Given the description of an element on the screen output the (x, y) to click on. 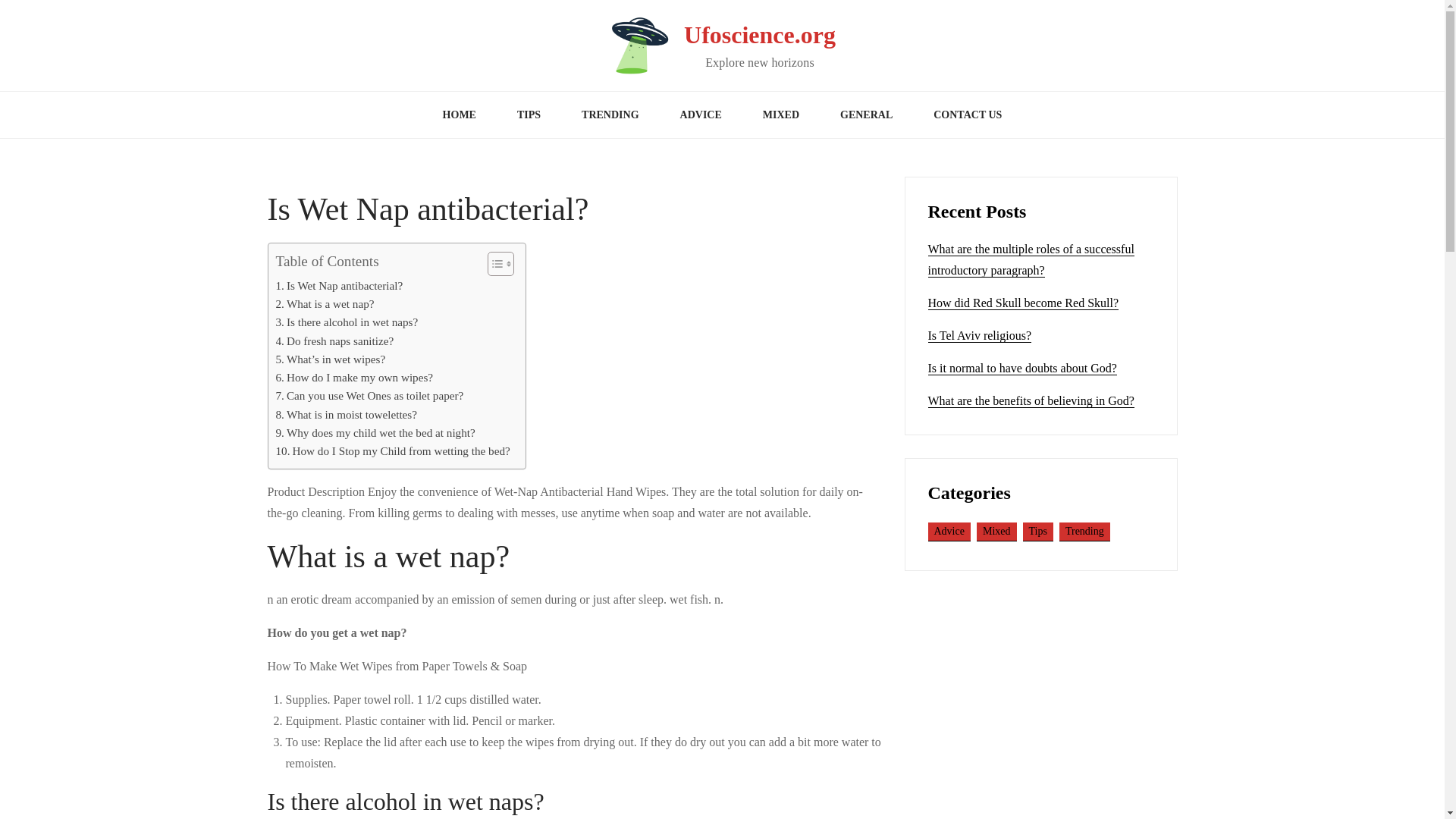
MIXED (781, 114)
Is Wet Nap antibacterial? (339, 285)
Is there alcohol in wet naps? (347, 321)
How do I make my own wipes? (354, 377)
How do I Stop my Child from wetting the bed? (393, 451)
What is in moist towelettes? (346, 414)
Is there alcohol in wet naps? (347, 321)
ADVICE (701, 114)
How do I Stop my Child from wetting the bed? (393, 451)
What are the benefits of believing in God? (1031, 400)
